Given the description of an element on the screen output the (x, y) to click on. 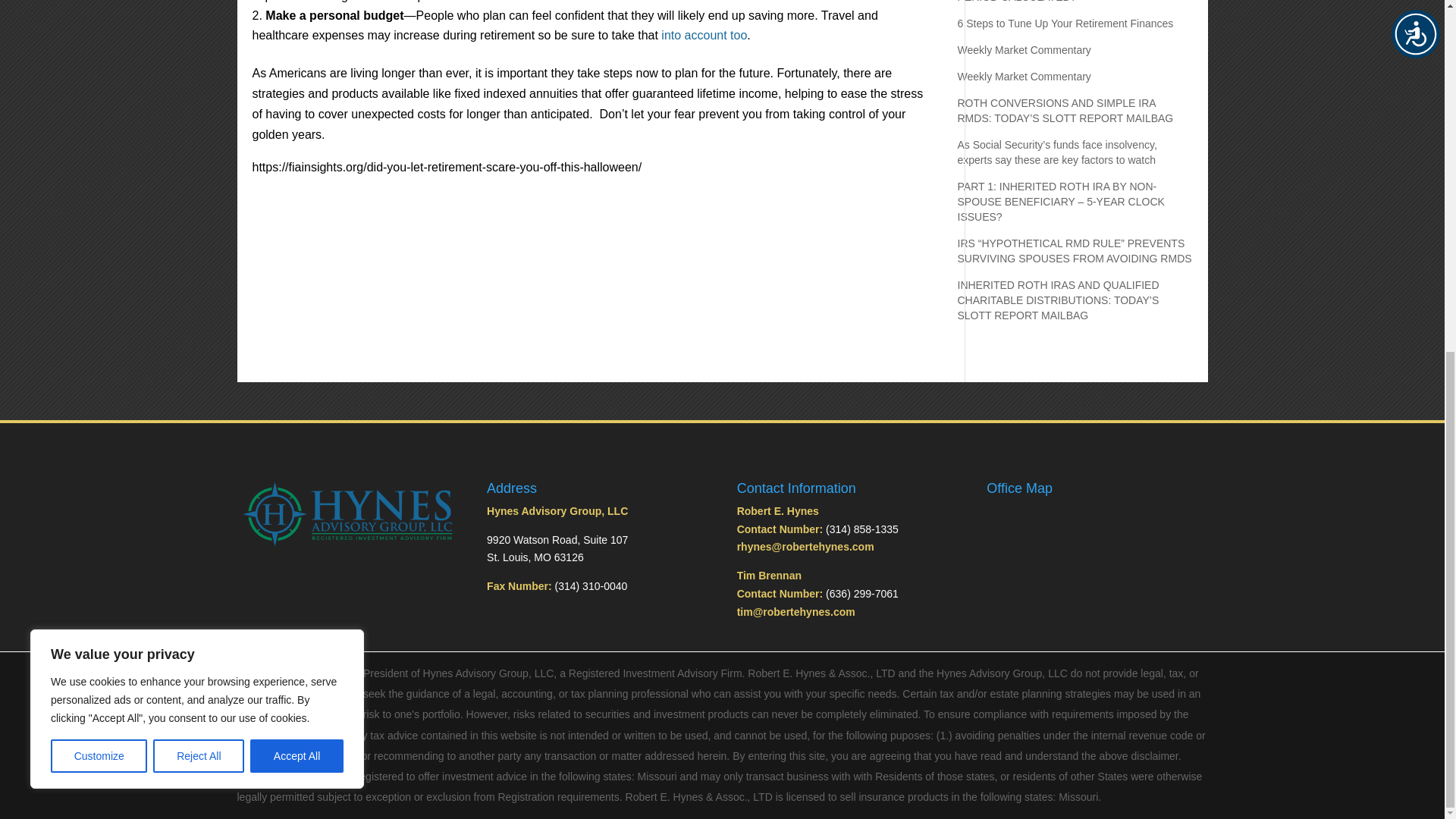
Reject All (198, 144)
Customize (98, 144)
into account too (703, 34)
Accept All (296, 144)
